Given the description of an element on the screen output the (x, y) to click on. 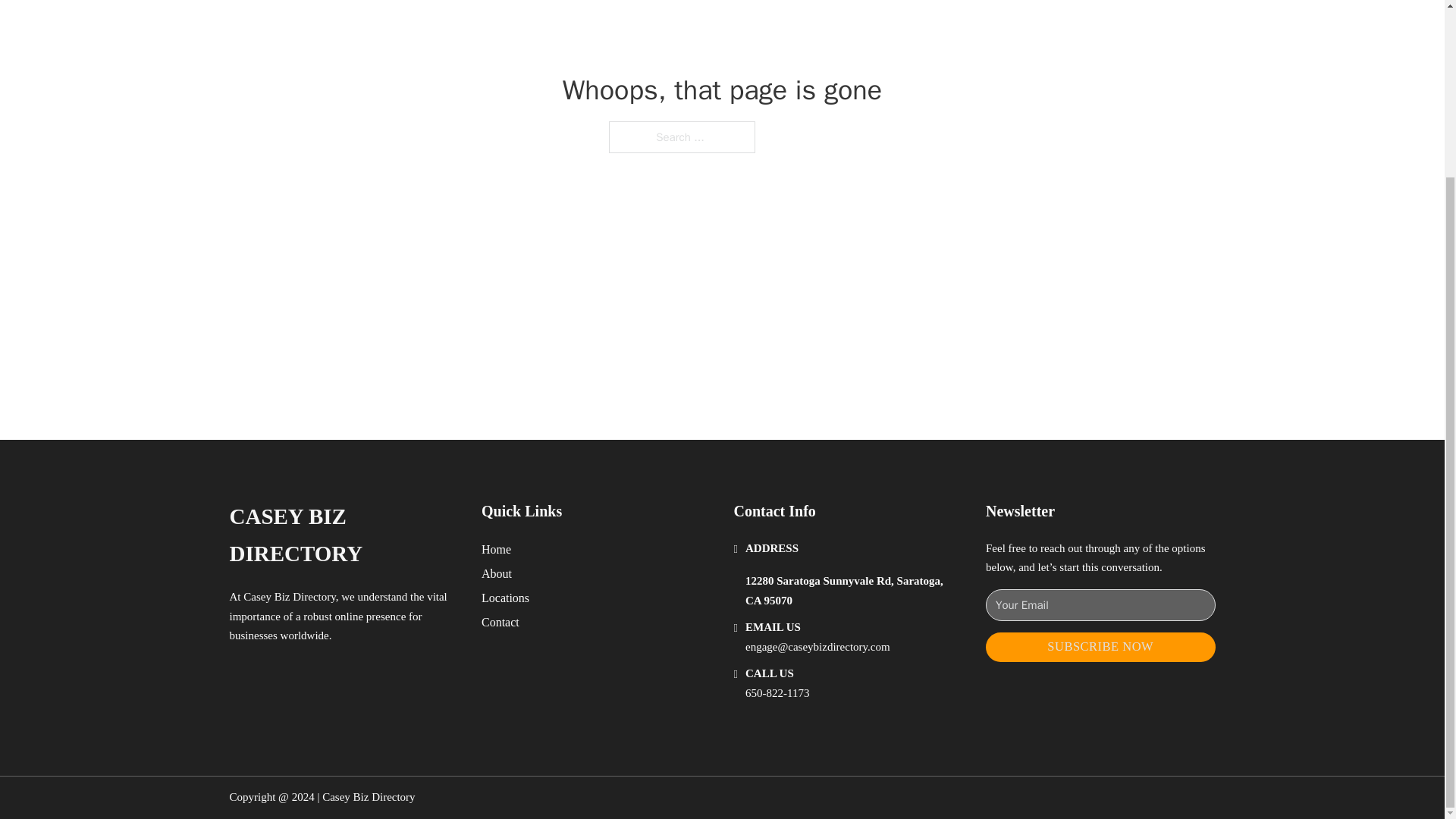
Contact (500, 621)
About (496, 573)
Home (496, 548)
Locations (505, 598)
650-822-1173 (777, 693)
SUBSCRIBE NOW (1100, 646)
CASEY BIZ DIRECTORY (343, 535)
